Given the description of an element on the screen output the (x, y) to click on. 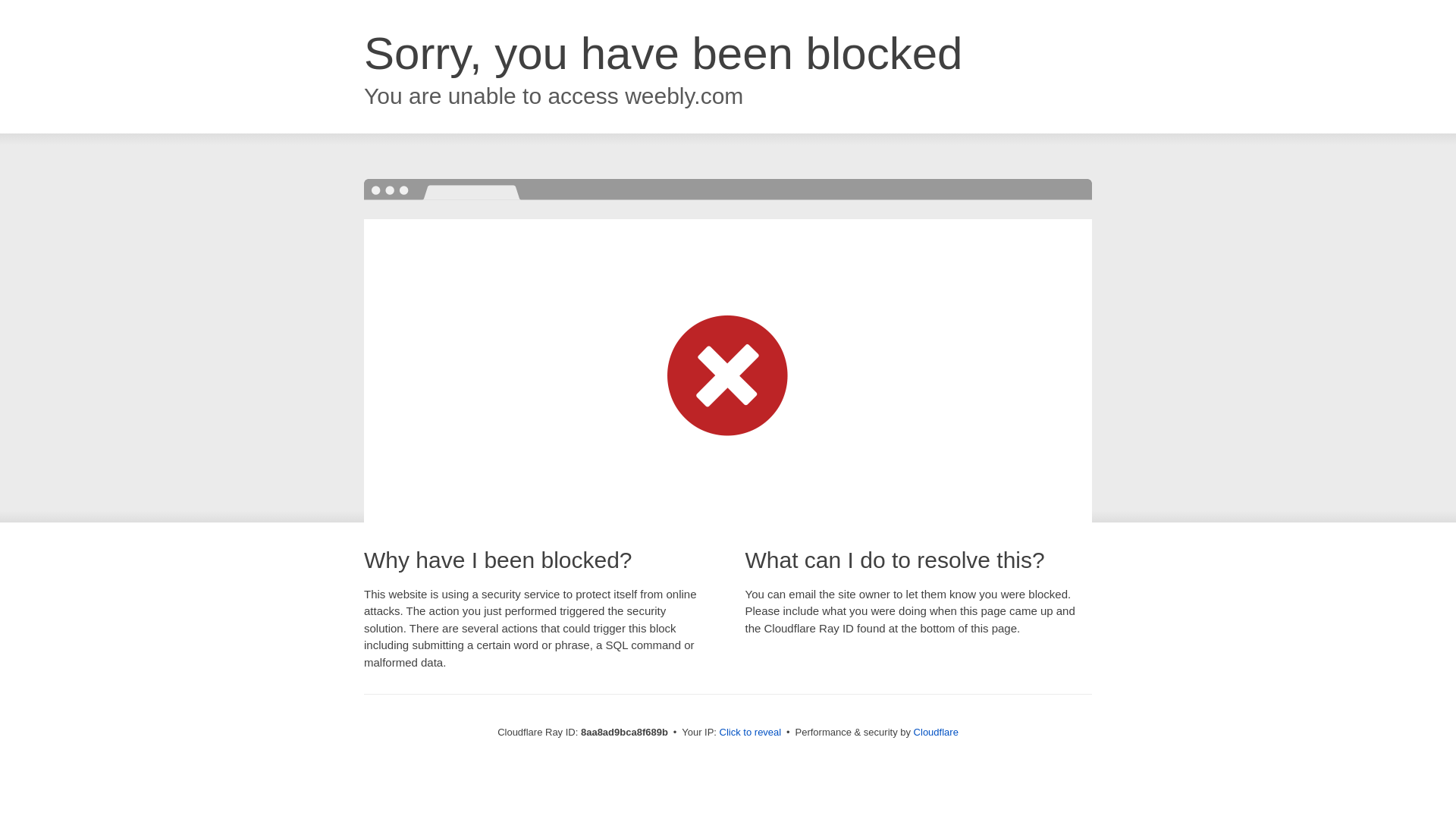
Click to reveal (750, 732)
Cloudflare (936, 731)
